Given the description of an element on the screen output the (x, y) to click on. 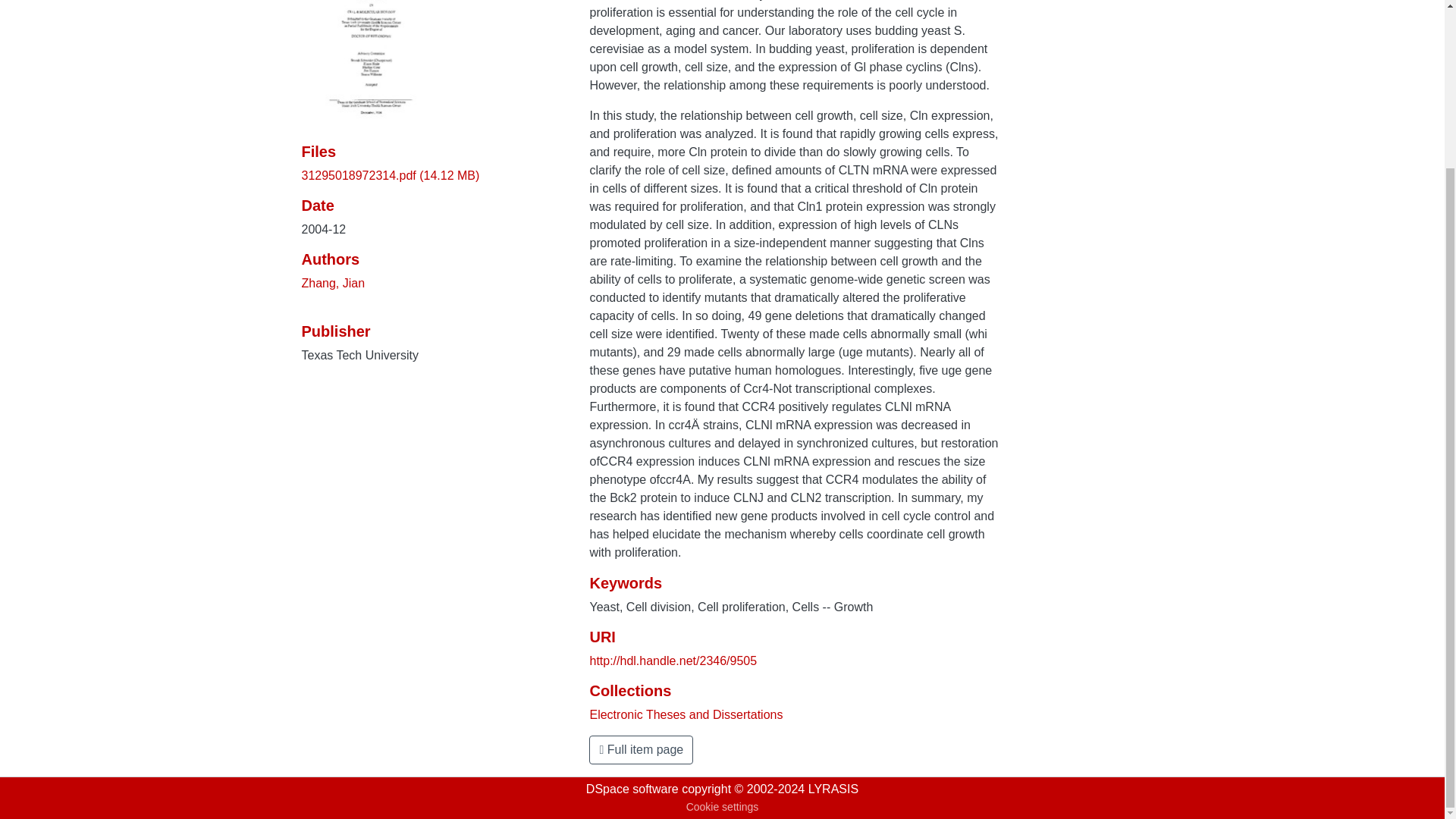
Cookie settings (722, 806)
Electronic Theses and Dissertations (686, 714)
DSpace software (632, 788)
Zhang, Jian (333, 282)
LYRASIS (833, 788)
Full item page (641, 749)
